Given the description of an element on the screen output the (x, y) to click on. 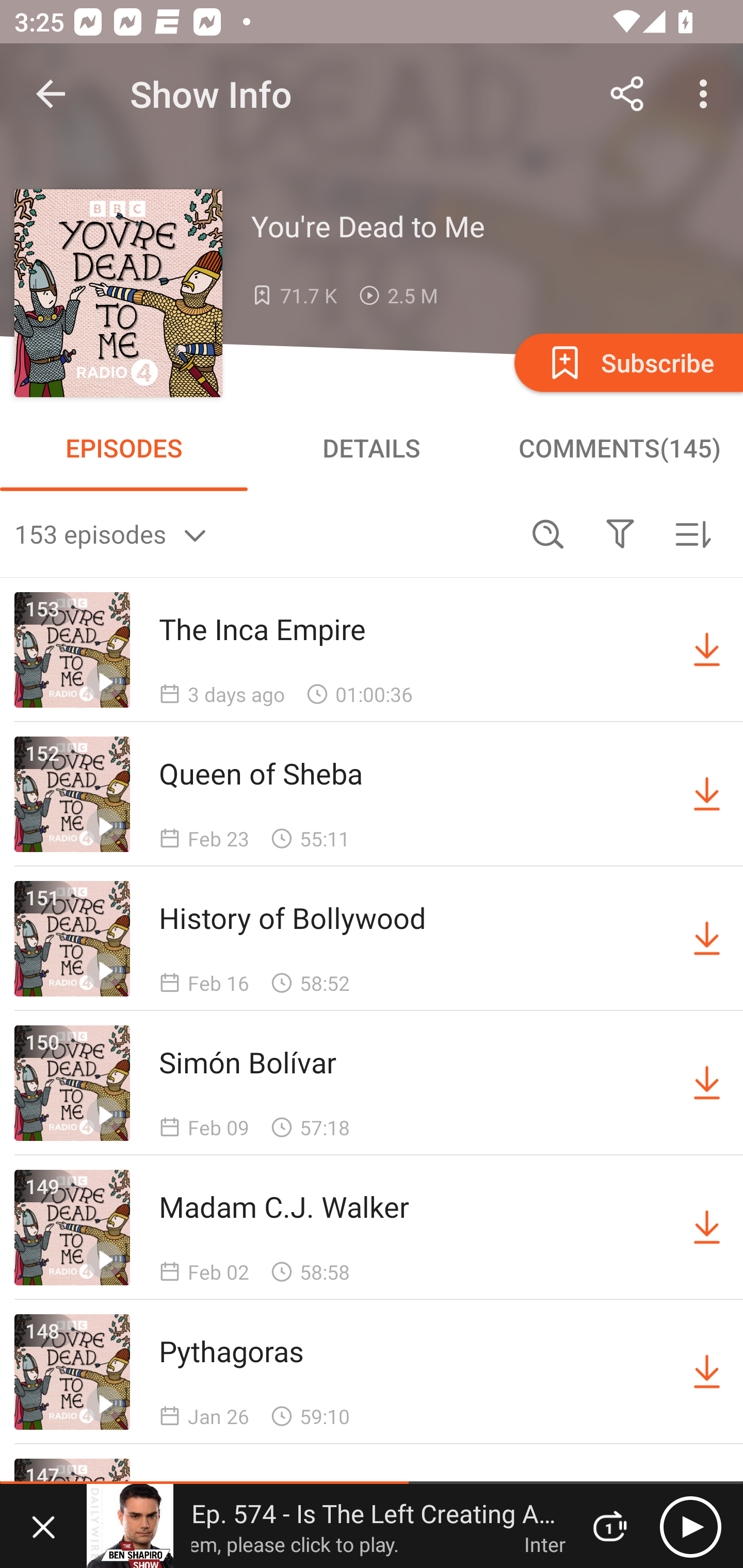
Navigate up (50, 93)
Share (626, 93)
More options (706, 93)
Subscribe (627, 361)
EPISODES (123, 447)
DETAILS (371, 447)
COMMENTS(145) (619, 447)
153 episodes  (262, 533)
 Search (547, 533)
 (619, 533)
 Sorted by newest first (692, 533)
Download (706, 649)
Download (706, 793)
Download (706, 939)
Download (706, 1083)
Download (706, 1227)
Download (706, 1371)
Play (690, 1526)
